Given the description of an element on the screen output the (x, y) to click on. 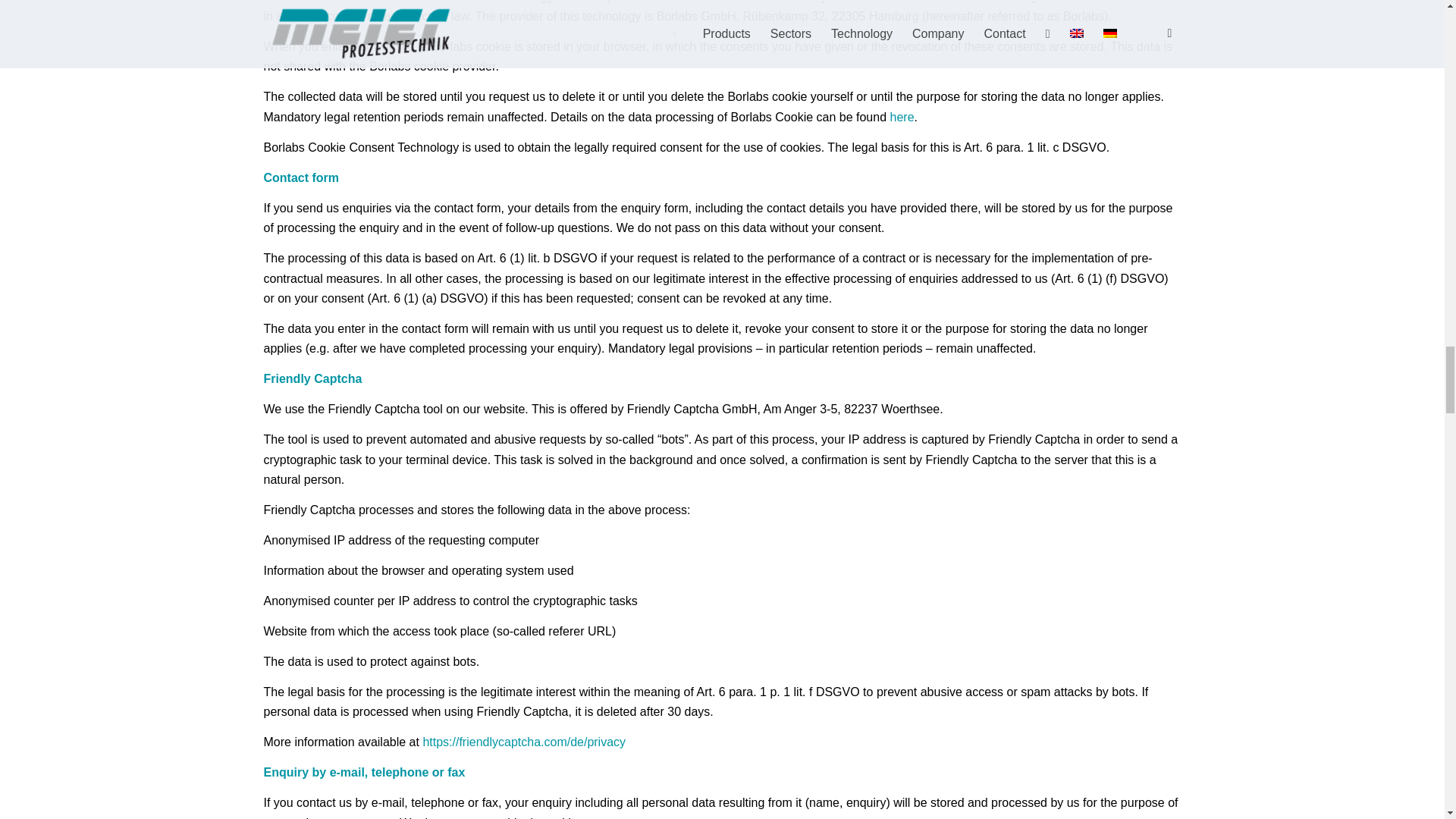
here (901, 116)
